Given the description of an element on the screen output the (x, y) to click on. 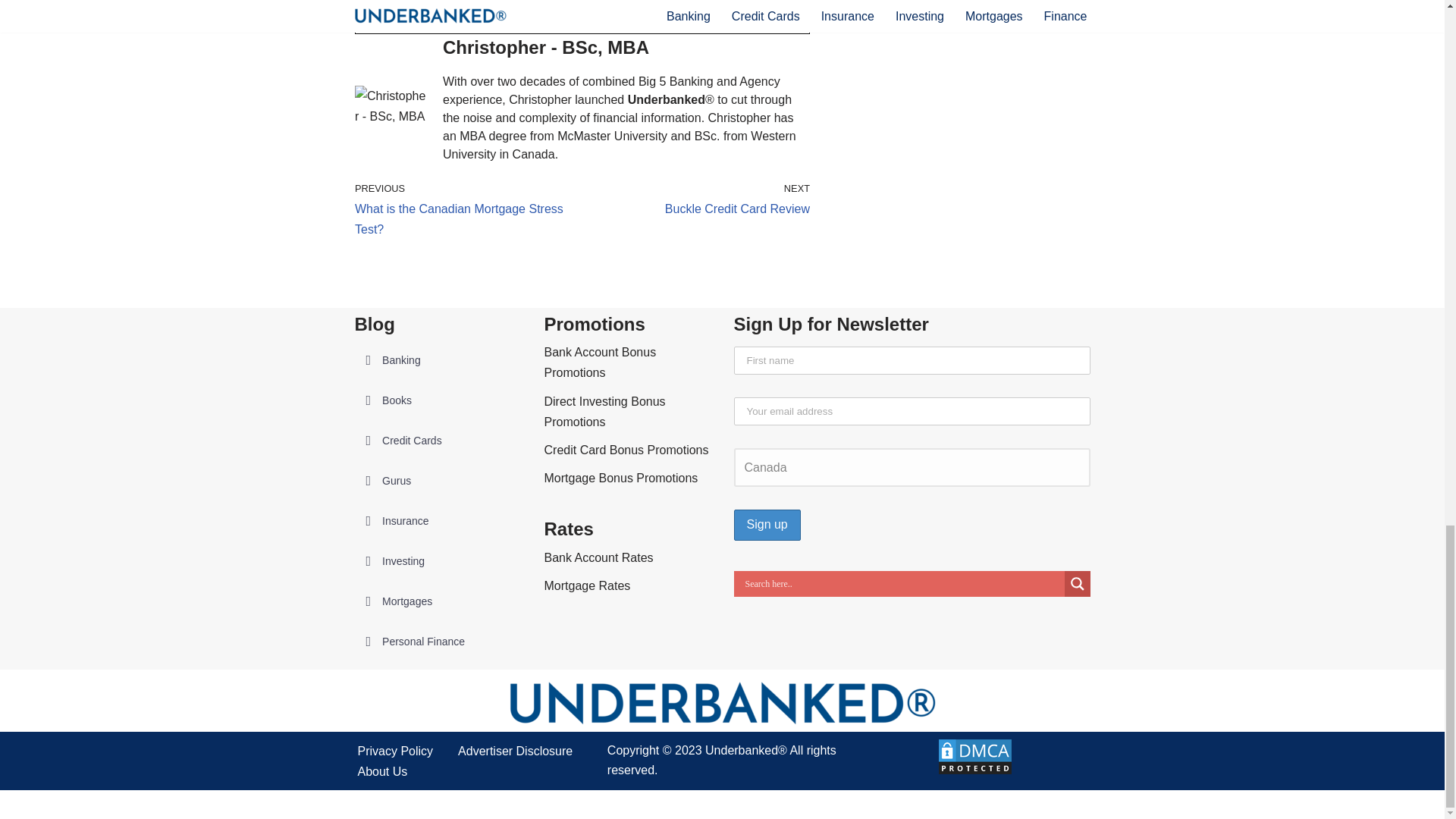
Personal Finance (438, 641)
DMCA.com Protection Status (975, 771)
Underbanked (665, 99)
Sign up (766, 525)
Gurus (438, 480)
Books (438, 400)
Mortgages (438, 601)
Investing (438, 560)
Insurance (438, 521)
Banking (465, 209)
Credit Cards (438, 361)
